Given the description of an element on the screen output the (x, y) to click on. 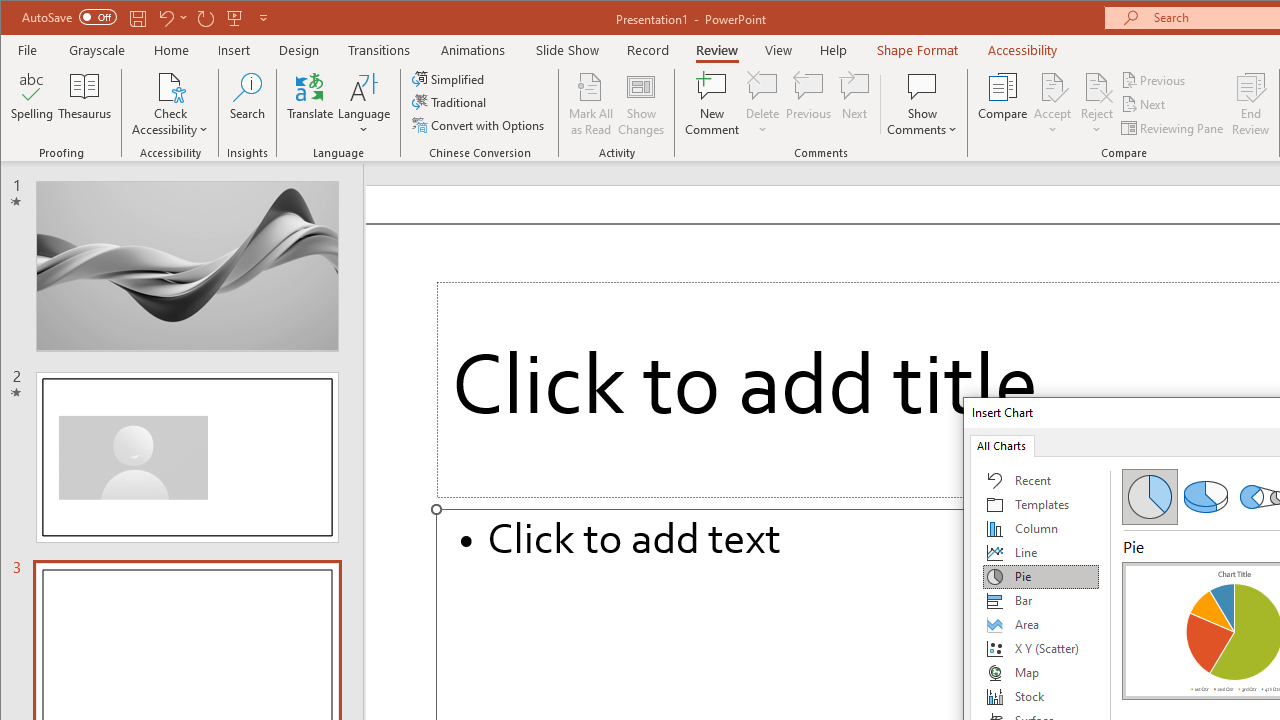
Line (1041, 552)
Show Comments (922, 104)
Check Accessibility (170, 86)
Compare (1002, 104)
Recent (1041, 480)
Grayscale (97, 50)
Show Comments (922, 86)
Next (1144, 103)
Language (363, 104)
Accept (1052, 104)
